Given the description of an element on the screen output the (x, y) to click on. 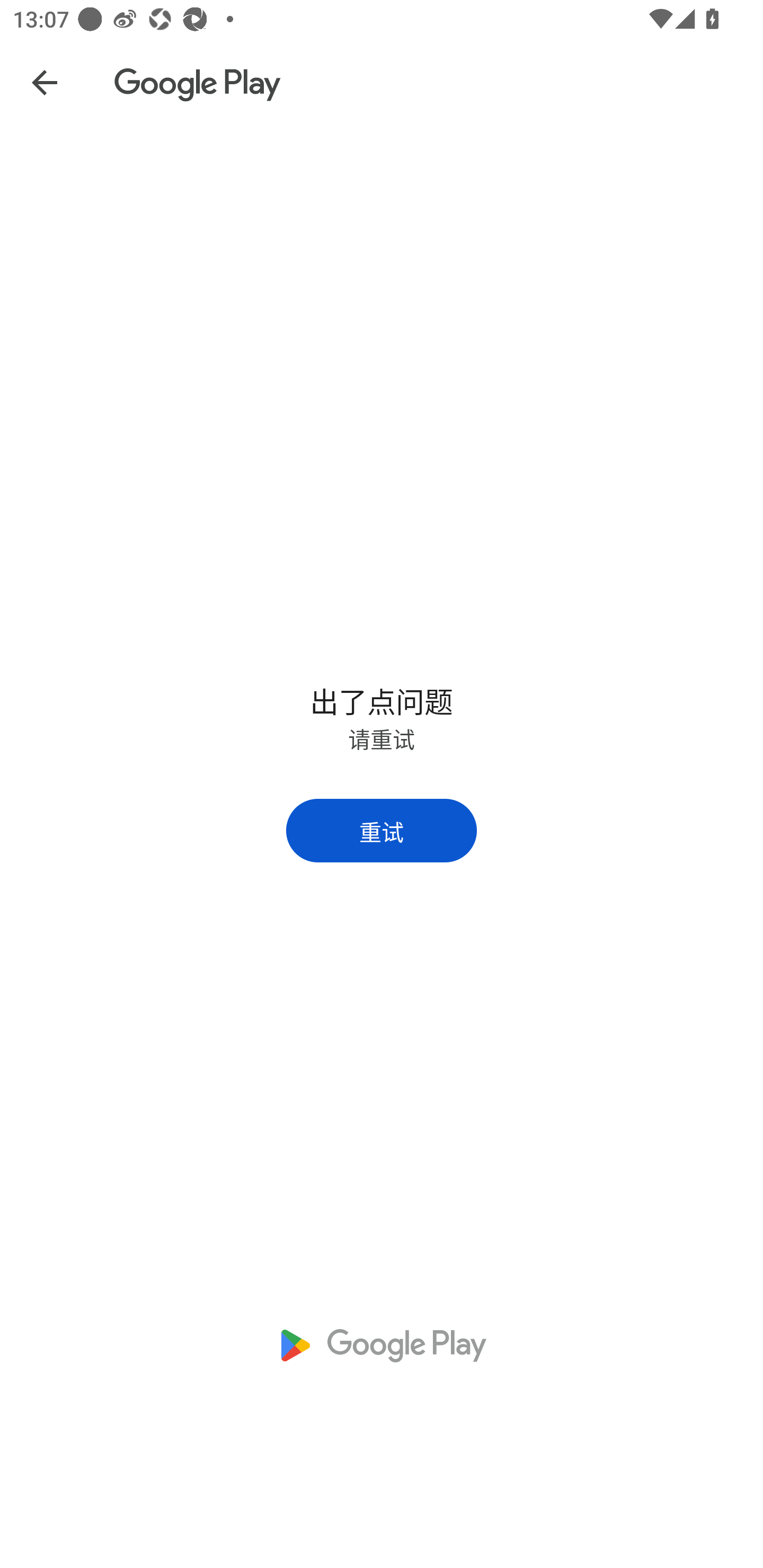
转到上一层级 (44, 81)
重试 (381, 829)
